Given the description of an element on the screen output the (x, y) to click on. 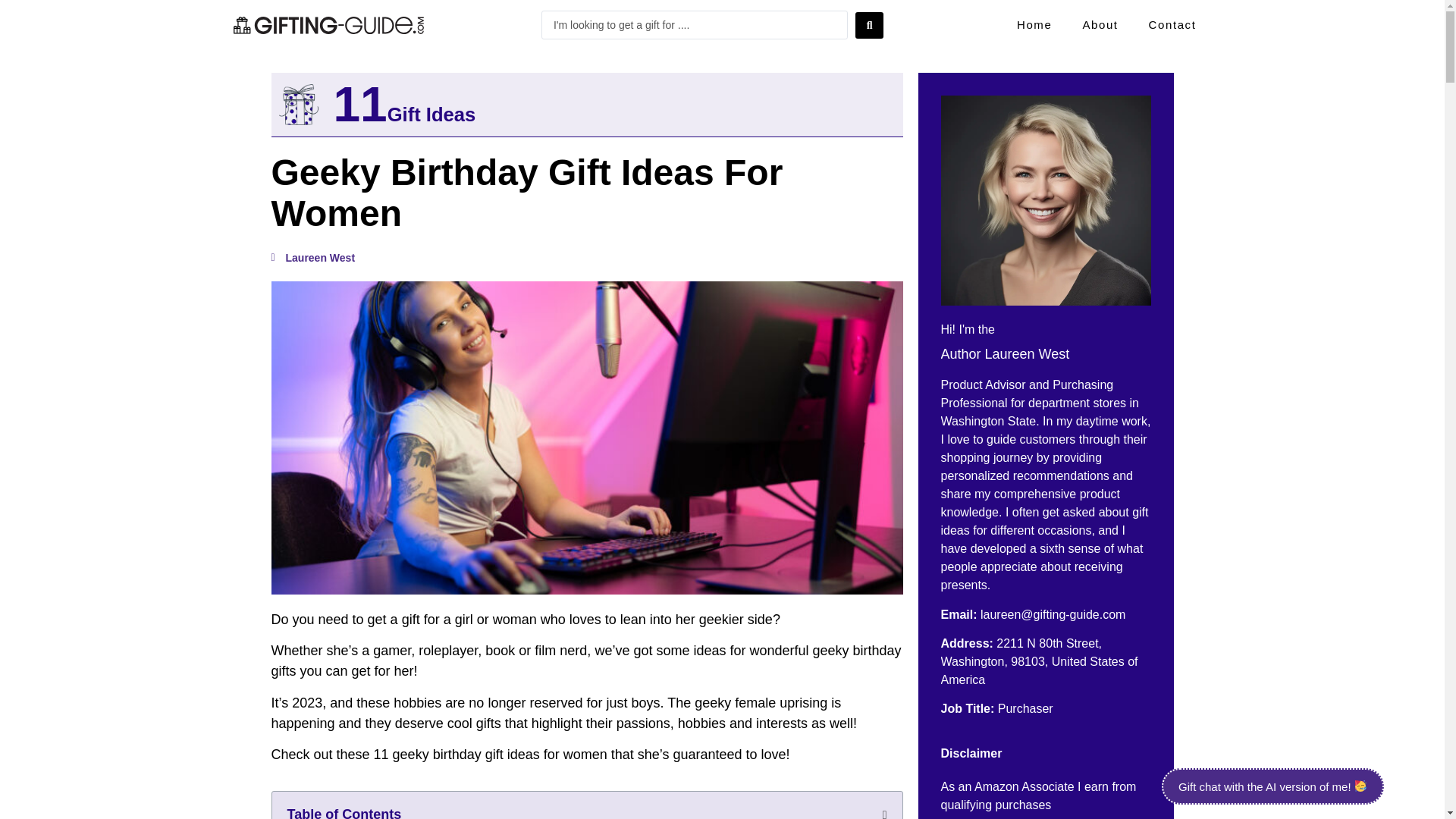
Contact (1172, 24)
Home (1034, 24)
About (1099, 24)
Laureen West (312, 258)
